Given the description of an element on the screen output the (x, y) to click on. 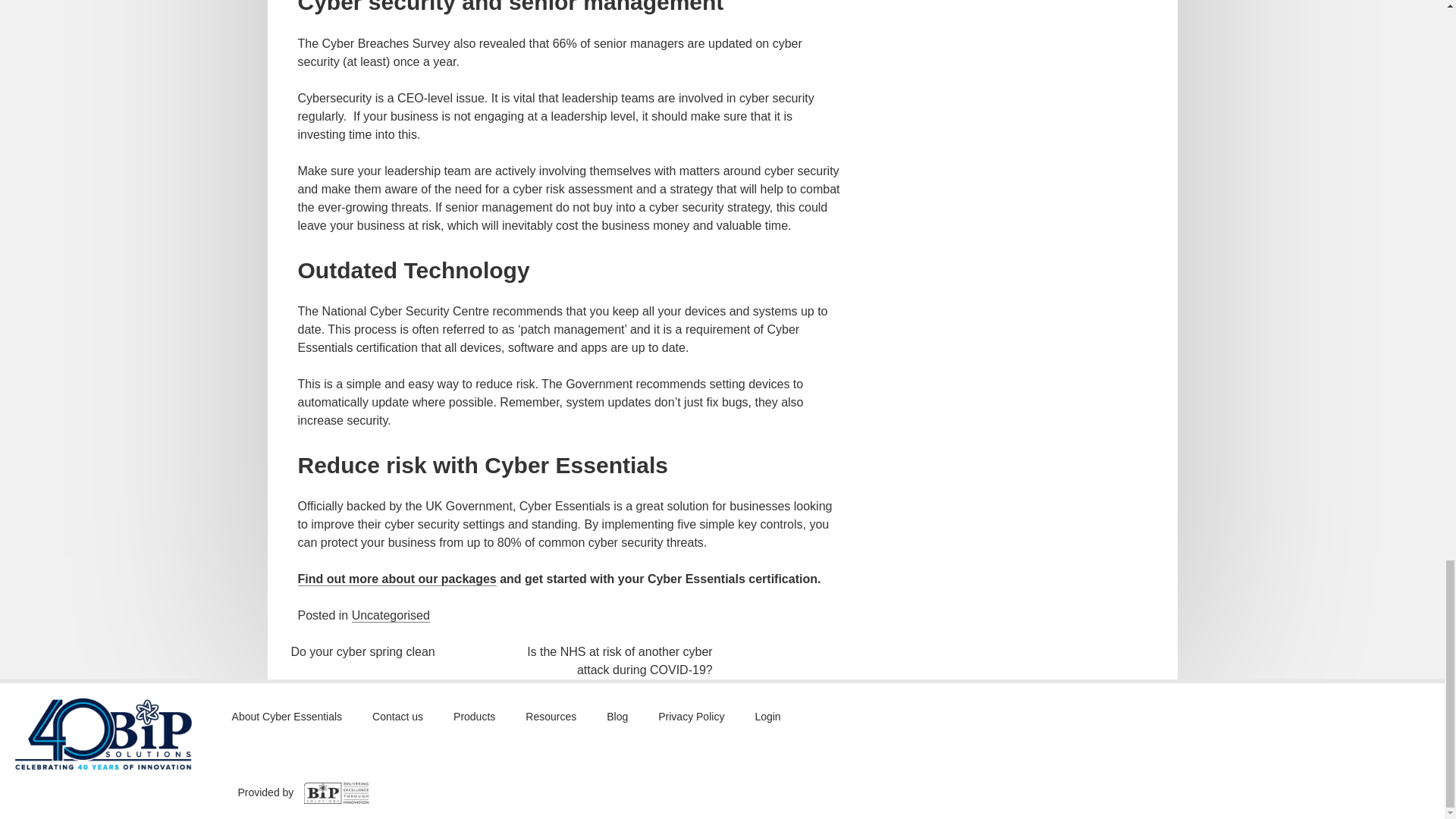
Privacy Policy (690, 716)
Resources (550, 716)
Blog (617, 716)
Login (767, 716)
About Cyber Essentials (286, 716)
Is the NHS at risk of another cyber attack during COVID-19? (620, 660)
Contact us (397, 716)
Login (767, 716)
Find out more about our packages (396, 579)
Uncategorised (390, 615)
